Given the description of an element on the screen output the (x, y) to click on. 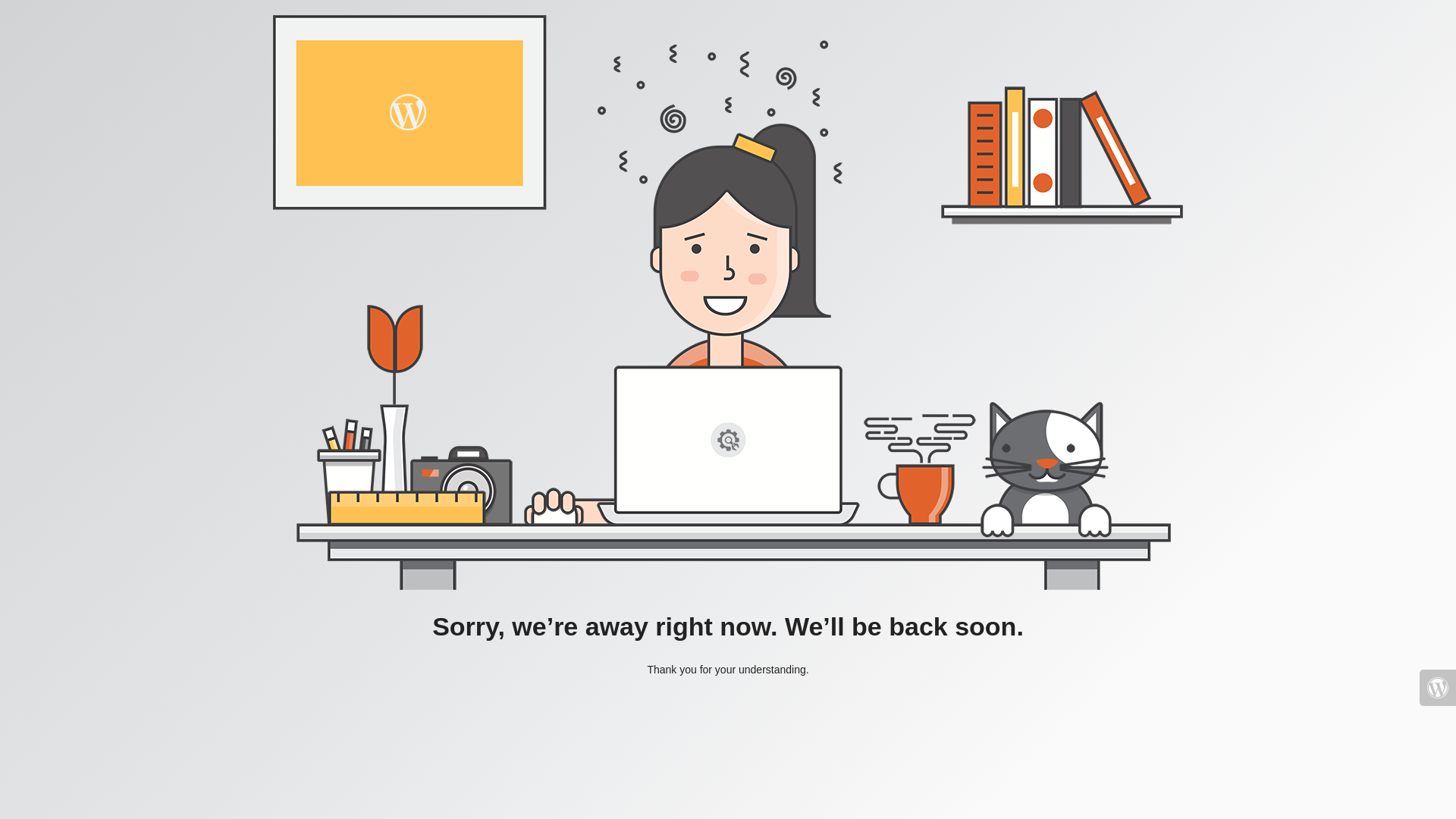
Cyber Chick at work Element type: hover (728, 302)
